Given the description of an element on the screen output the (x, y) to click on. 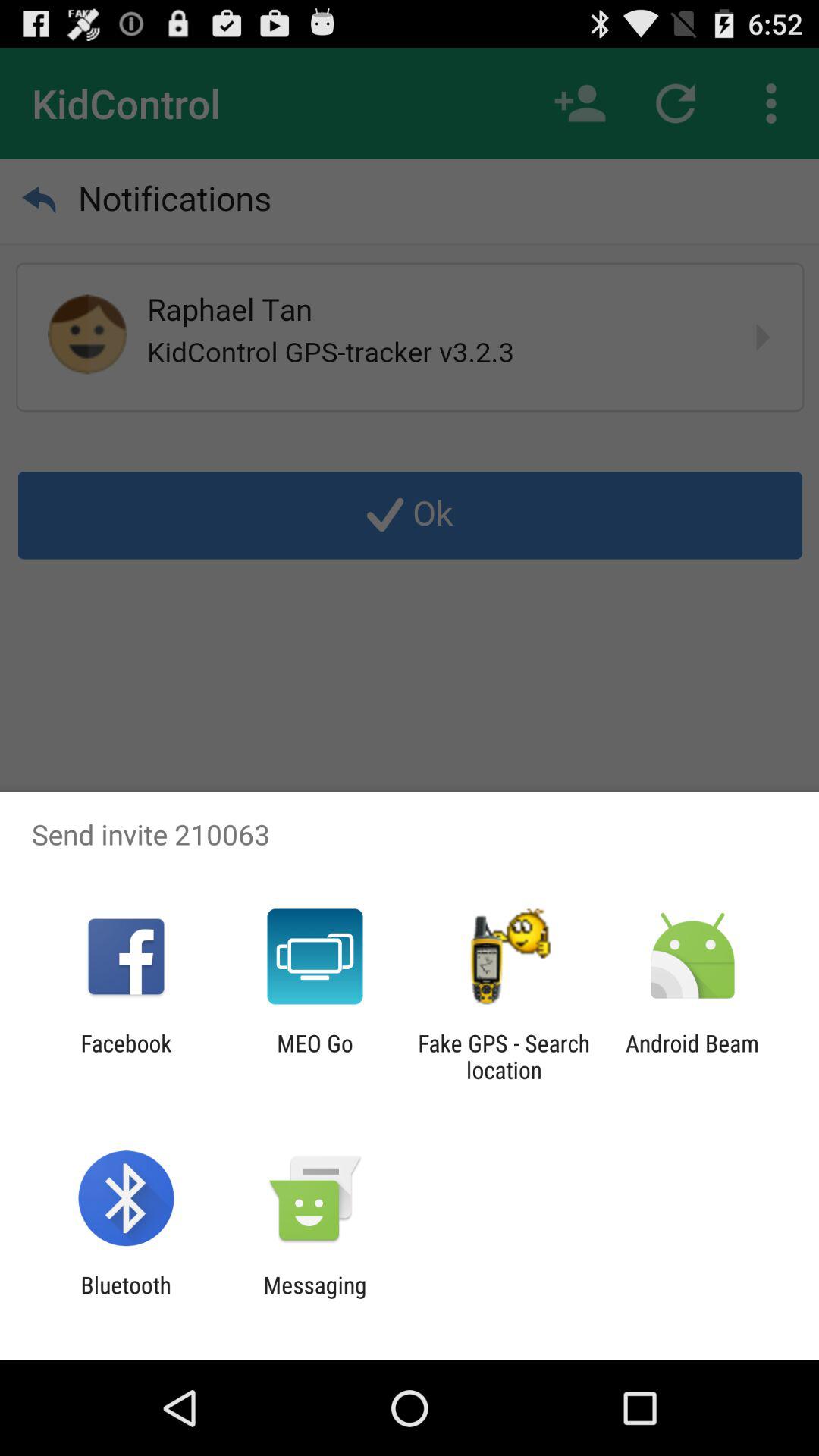
tap app to the left of android beam (503, 1056)
